Given the description of an element on the screen output the (x, y) to click on. 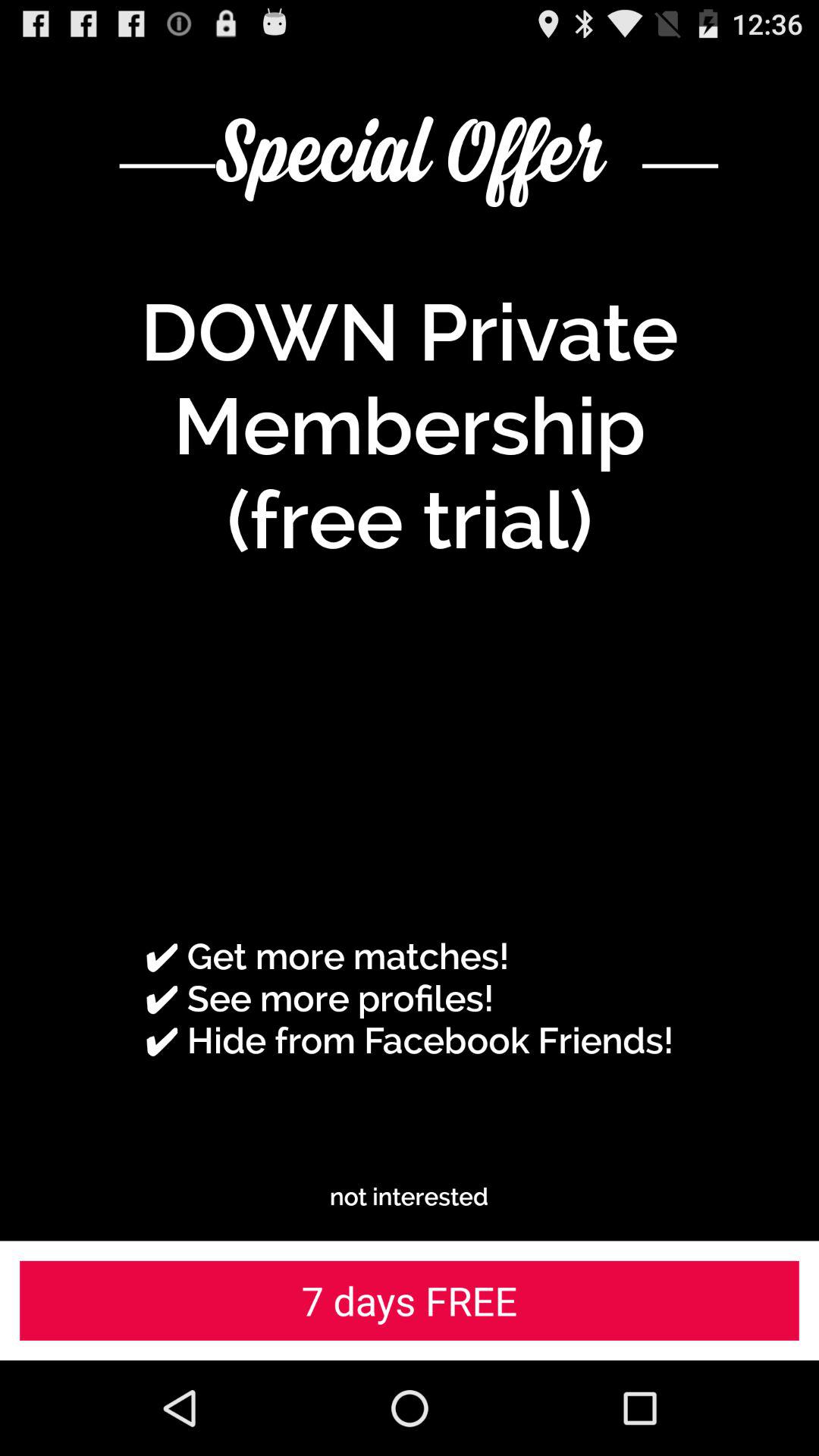
press 7 days free item (409, 1300)
